Given the description of an element on the screen output the (x, y) to click on. 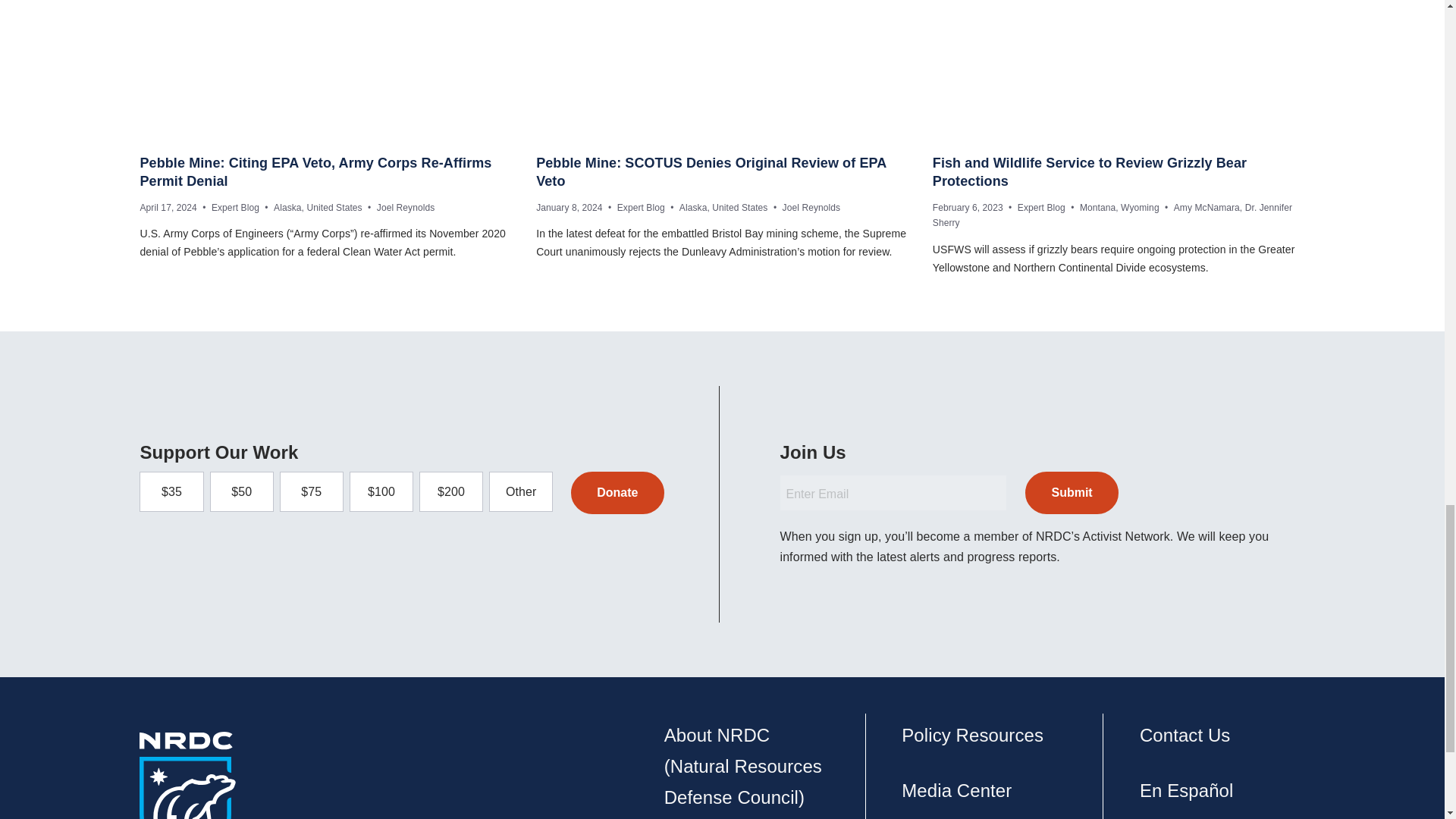
NRDC Logo (187, 775)
